Given the description of an element on the screen output the (x, y) to click on. 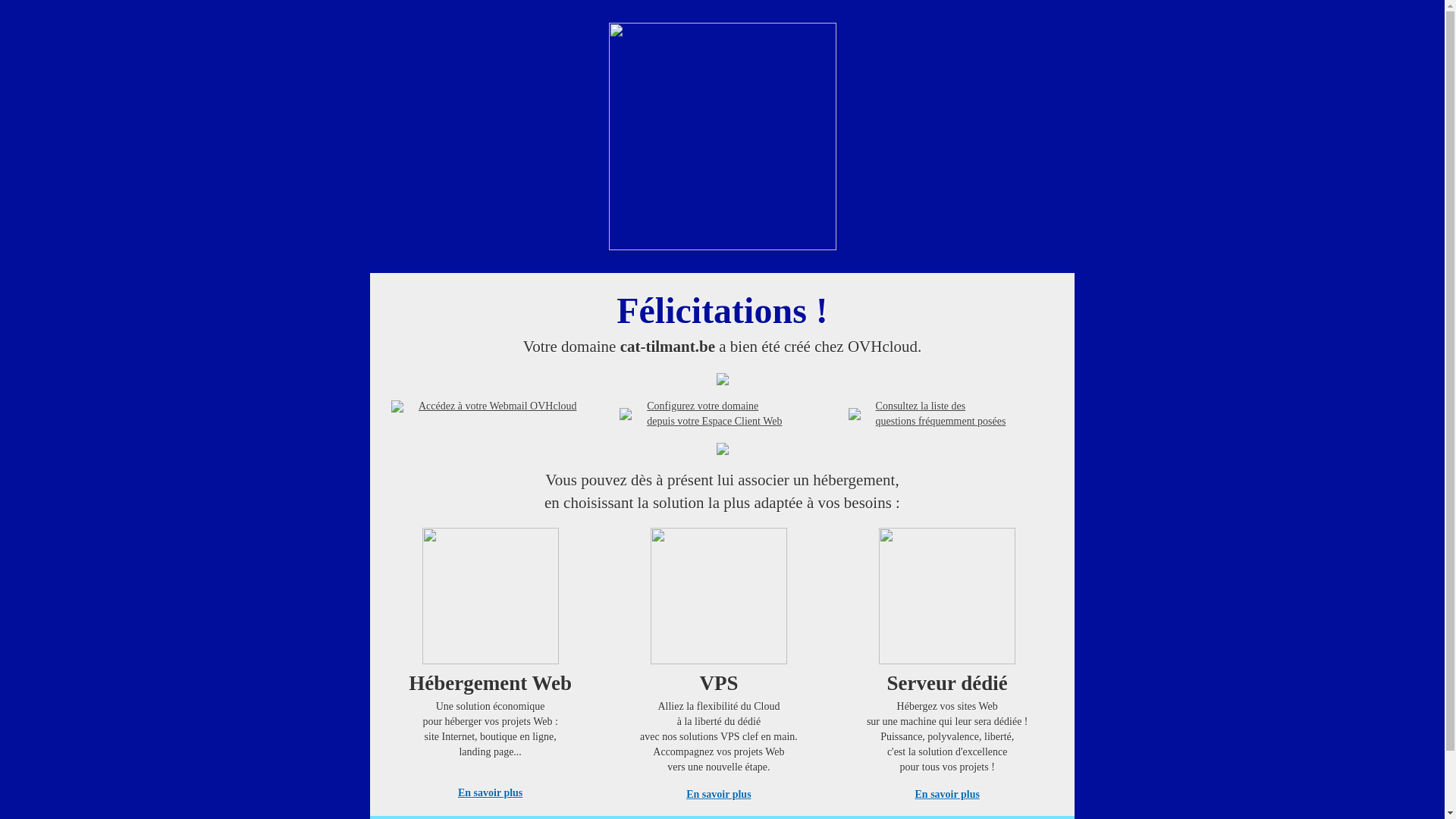
En savoir plus Element type: text (947, 794)
OVHcloud Element type: hover (721, 245)
En savoir plus Element type: text (718, 794)
Configurez votre domaine
depuis votre Espace Client Web Element type: text (713, 413)
VPS Element type: hover (718, 660)
En savoir plus Element type: text (490, 792)
